Given the description of an element on the screen output the (x, y) to click on. 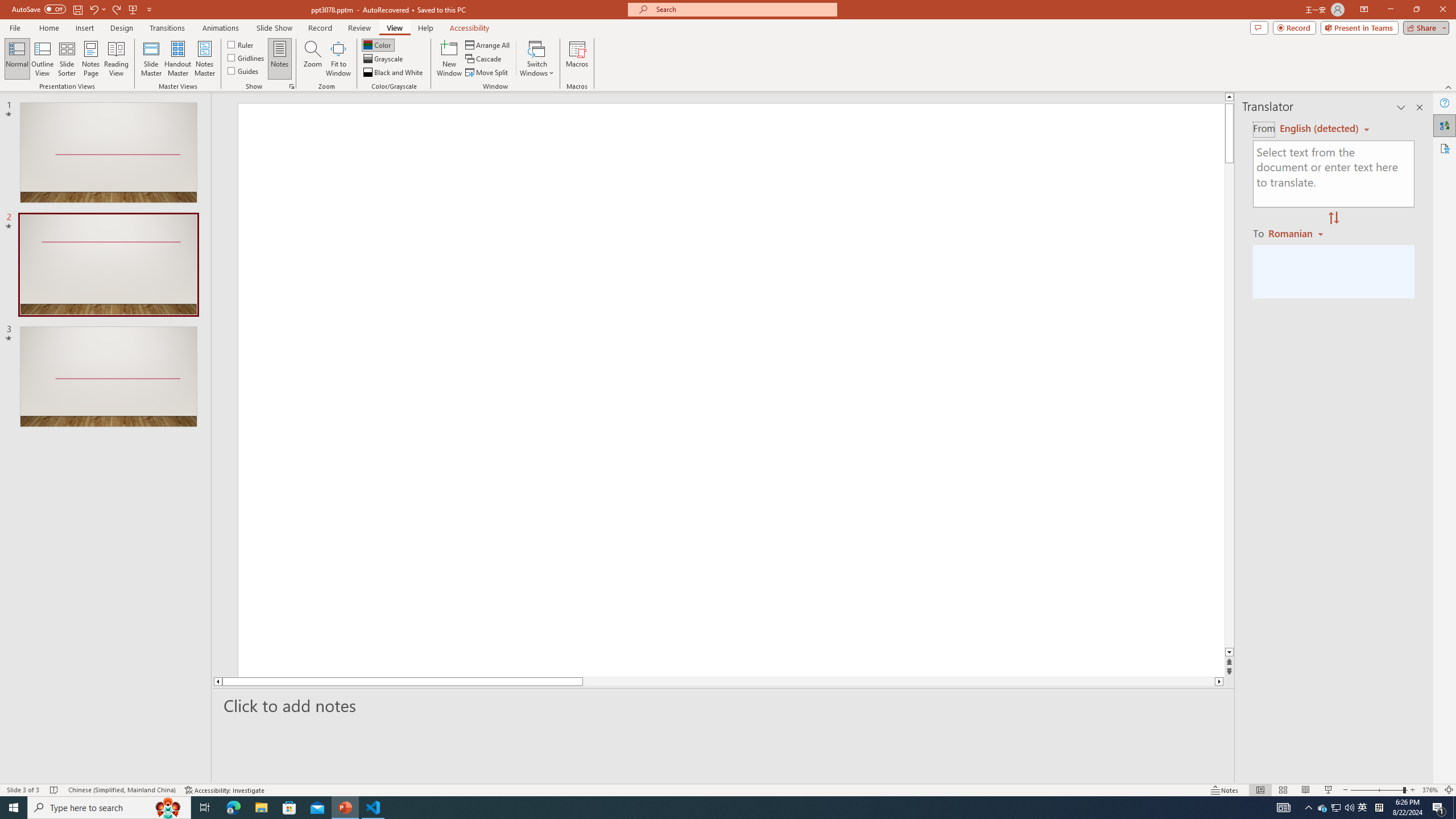
Handout Master (177, 58)
Gridlines (246, 56)
